Given the description of an element on the screen output the (x, y) to click on. 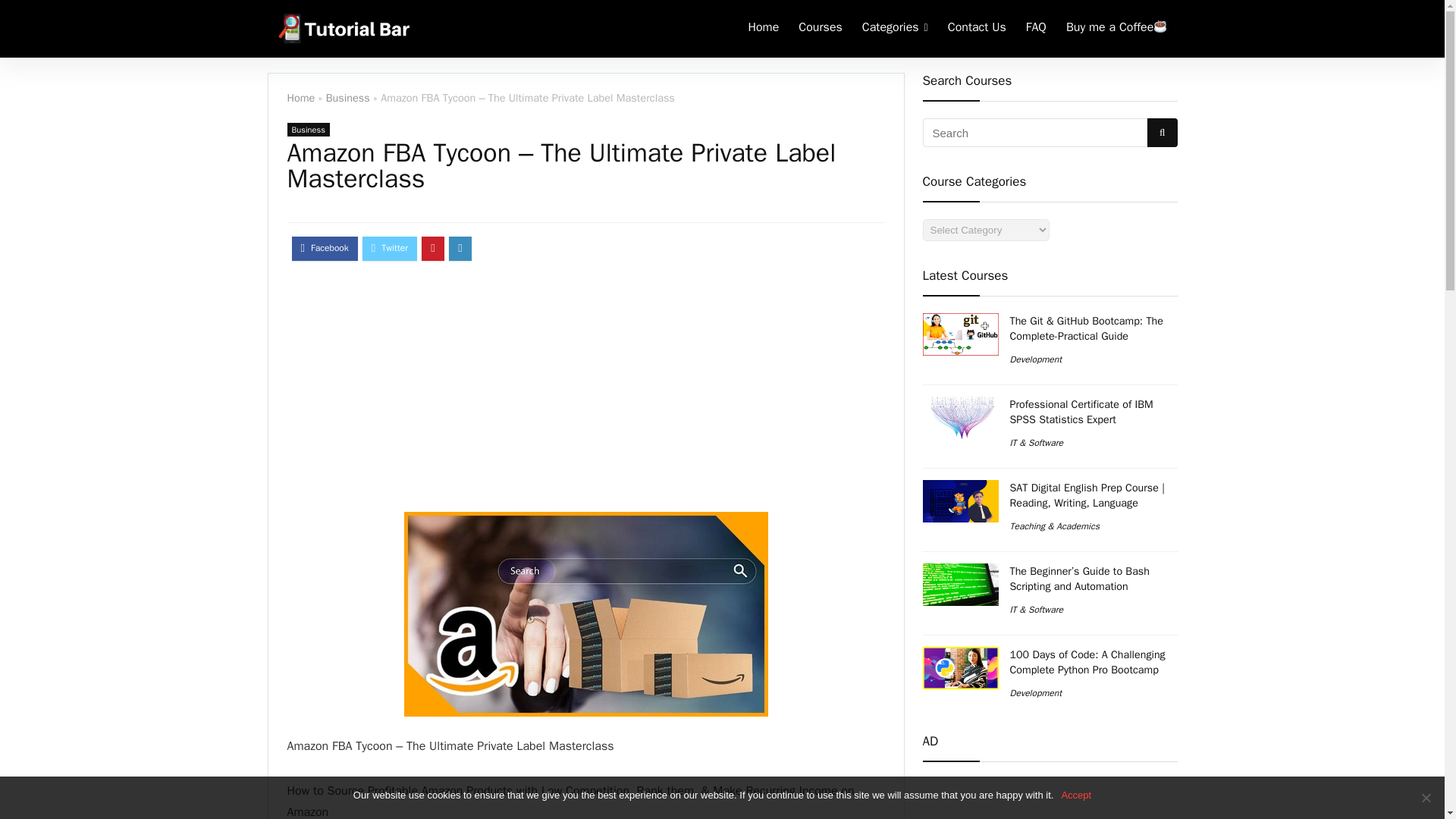
Advertisement (1048, 798)
Courses (820, 28)
Contact Us (976, 28)
No (1425, 797)
The Beginner's Guide to Bash Scripting and Automation (959, 584)
FAQ (1036, 28)
Home (300, 97)
Advertisement (584, 394)
AD (1048, 776)
Buy me a Coffee (1117, 28)
View all posts in Business (307, 129)
Business (307, 129)
Categories (894, 28)
Business (347, 97)
Professional Certificate of IBM SPSS Statistics Expert (959, 417)
